Given the description of an element on the screen output the (x, y) to click on. 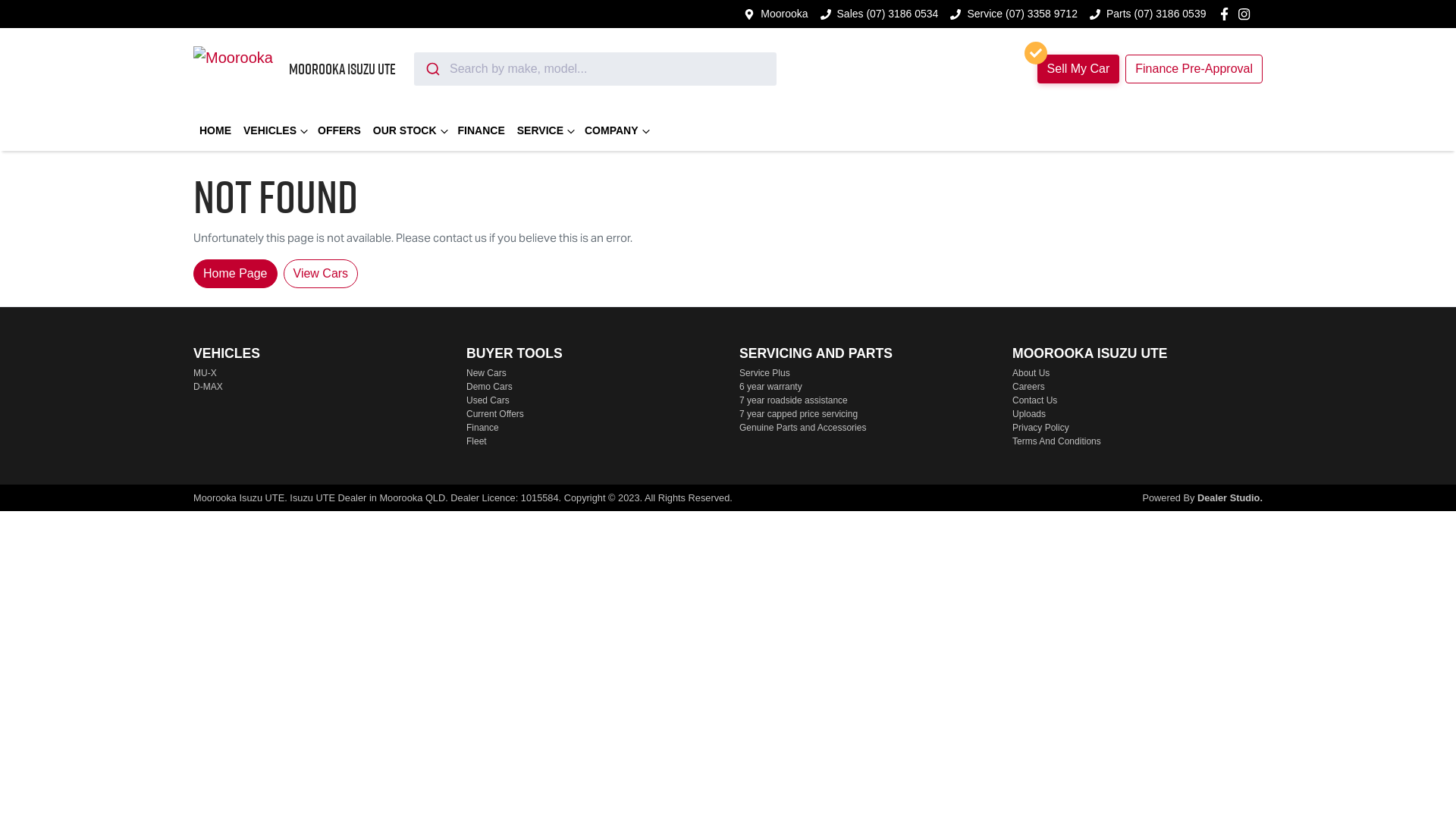
MU-X Element type: text (204, 372)
New Cars Element type: text (486, 372)
7 year capped price servicing Element type: text (798, 413)
VEHICLES Element type: text (274, 130)
Used Cars Element type: text (487, 400)
Fleet Element type: text (476, 441)
Genuine Parts and Accessories Element type: text (802, 427)
Uploads Element type: text (1028, 413)
Demo Cars Element type: text (489, 386)
COMPANY Element type: text (615, 130)
Careers Element type: text (1028, 386)
Moorooka Element type: text (783, 13)
Parts (07) 3186 0539 Element type: text (1156, 13)
7 year roadside assistance Element type: text (793, 400)
Terms And Conditions Element type: text (1056, 441)
Contact Us Element type: text (1034, 400)
SERVICE Element type: text (544, 130)
Privacy Policy Element type: text (1040, 427)
D-MAX Element type: text (207, 386)
About Us Element type: text (1030, 372)
Submit Element type: hover (431, 68)
OFFERS Element type: text (339, 130)
Current Offers Element type: text (495, 413)
Dealer Studio. Element type: text (1229, 497)
FINANCE Element type: text (481, 130)
Service (07) 3358 9712 Element type: text (1021, 13)
Sales (07) 3186 0534 Element type: text (887, 13)
View Cars Element type: text (320, 273)
Finance Element type: text (482, 427)
Sell My Car Element type: text (1078, 68)
6 year warranty Element type: text (770, 386)
HOME Element type: text (215, 130)
MOOROOKA ISUZU UTE Element type: text (294, 68)
Finance Pre-Approval Element type: text (1193, 68)
Home Page Element type: text (235, 273)
Service Plus Element type: text (764, 372)
OUR STOCK Element type: text (409, 130)
